Given the description of an element on the screen output the (x, y) to click on. 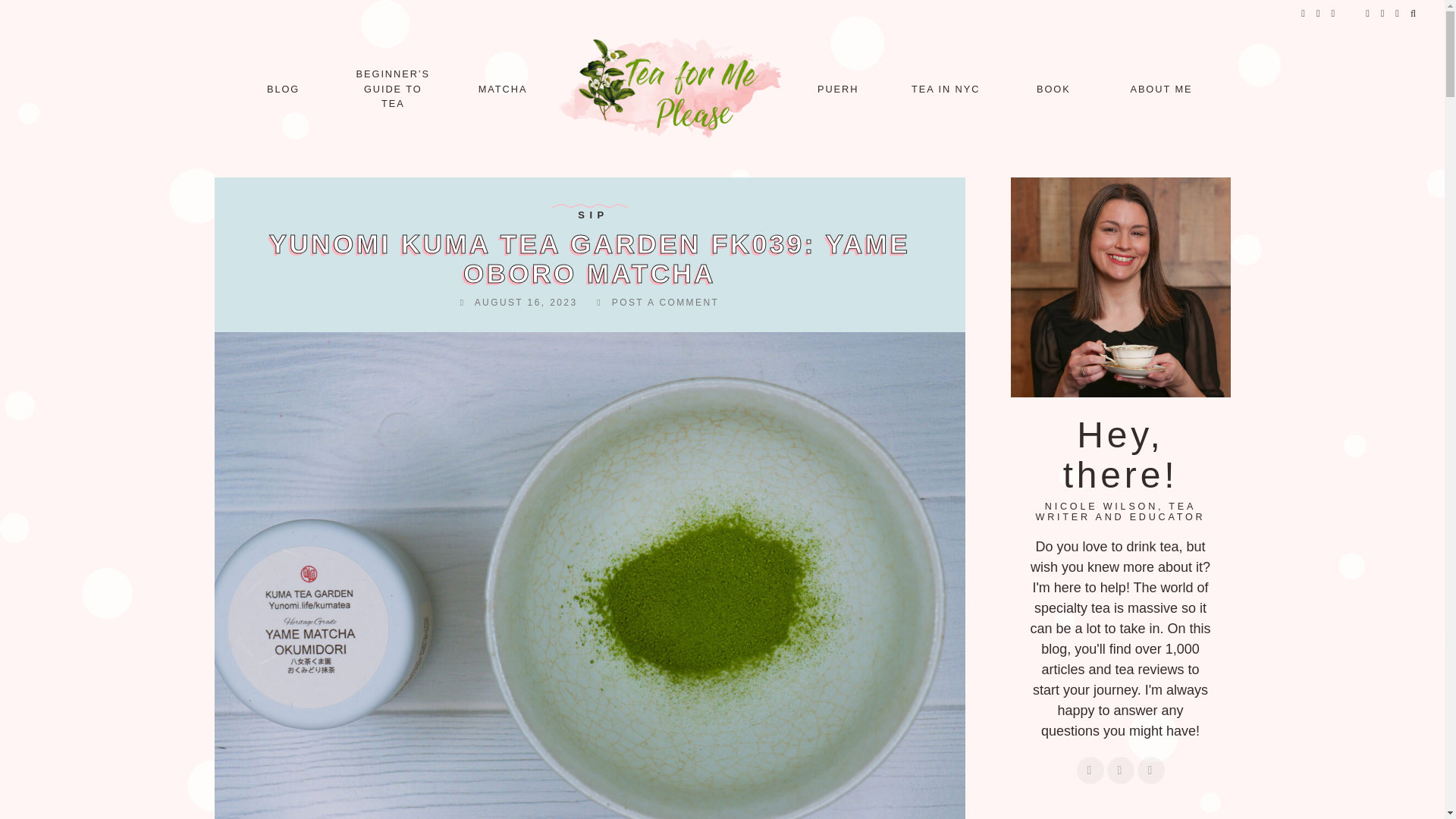
MATCHA (503, 89)
BLOG (282, 89)
PUERH (837, 89)
